Given the description of an element on the screen output the (x, y) to click on. 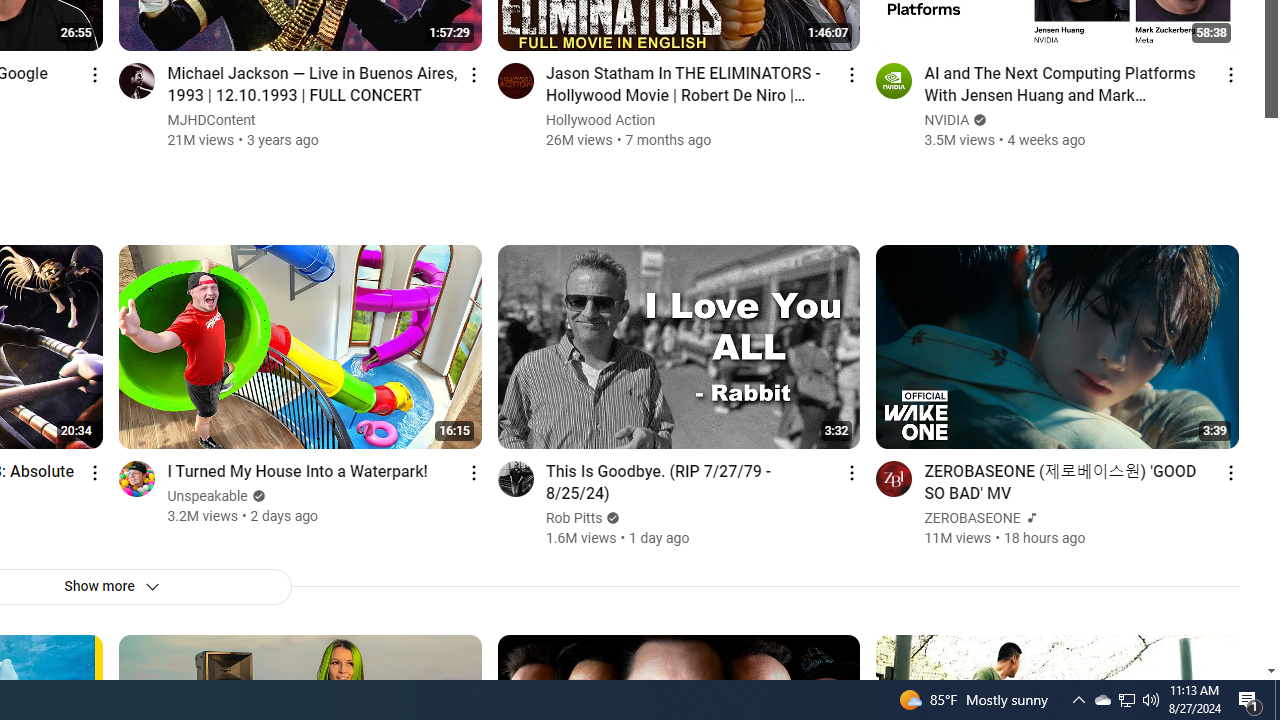
Action menu (1229, 472)
Rob Pitts (574, 518)
MJHDContent (212, 120)
Verified (610, 518)
NVIDIA (947, 120)
ZEROBASEONE (973, 518)
Go to channel (893, 478)
Hollywood Action (600, 120)
Unspeakable (207, 496)
Official Artist Channel (1029, 518)
